Given the description of an element on the screen output the (x, y) to click on. 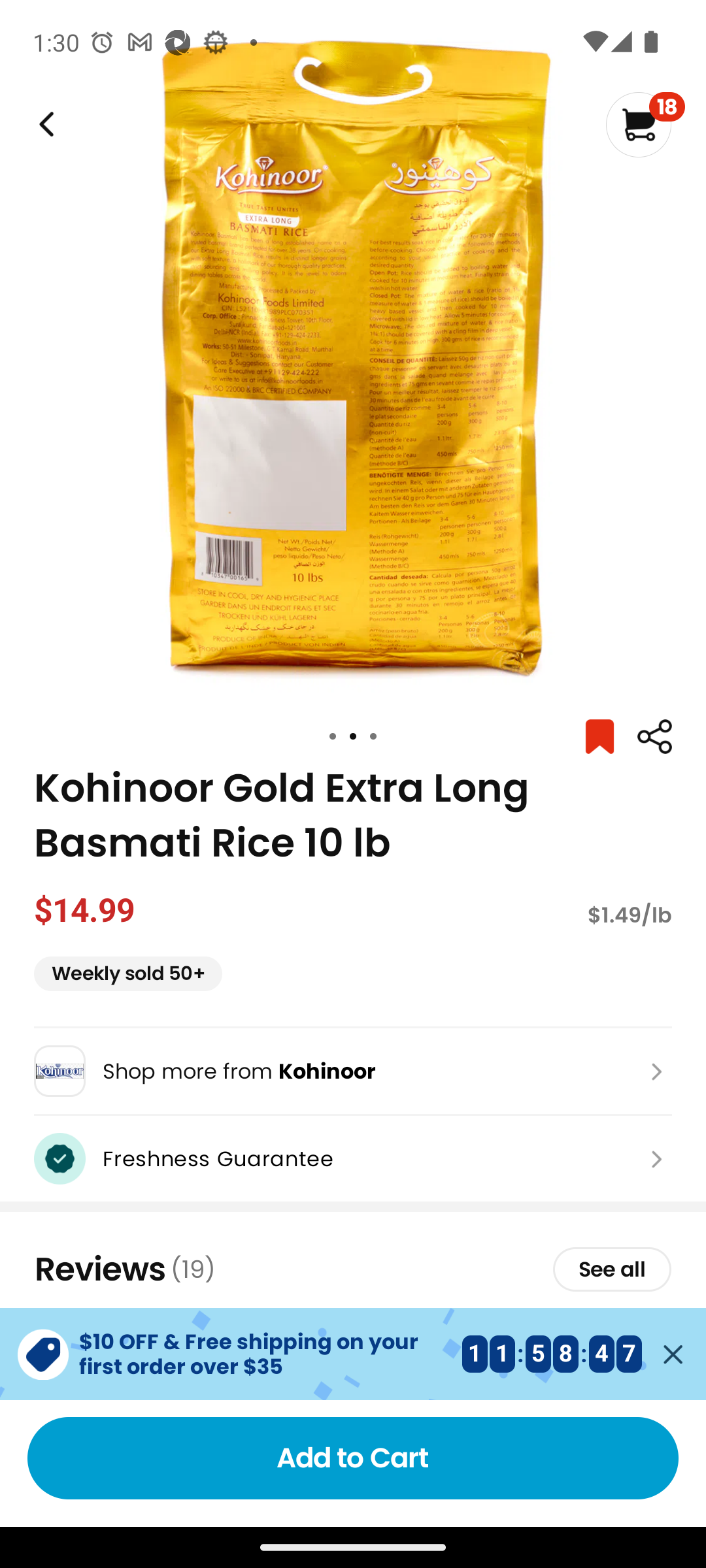
18 (644, 124)
Weee! (45, 124)
Weee! (653, 736)
Shop more from Kohinoor Weee! (352, 1070)
Freshness Guarantee (352, 1158)
Reviews (19) See all (353, 1269)
Add to Cart (352, 1458)
